Given the description of an element on the screen output the (x, y) to click on. 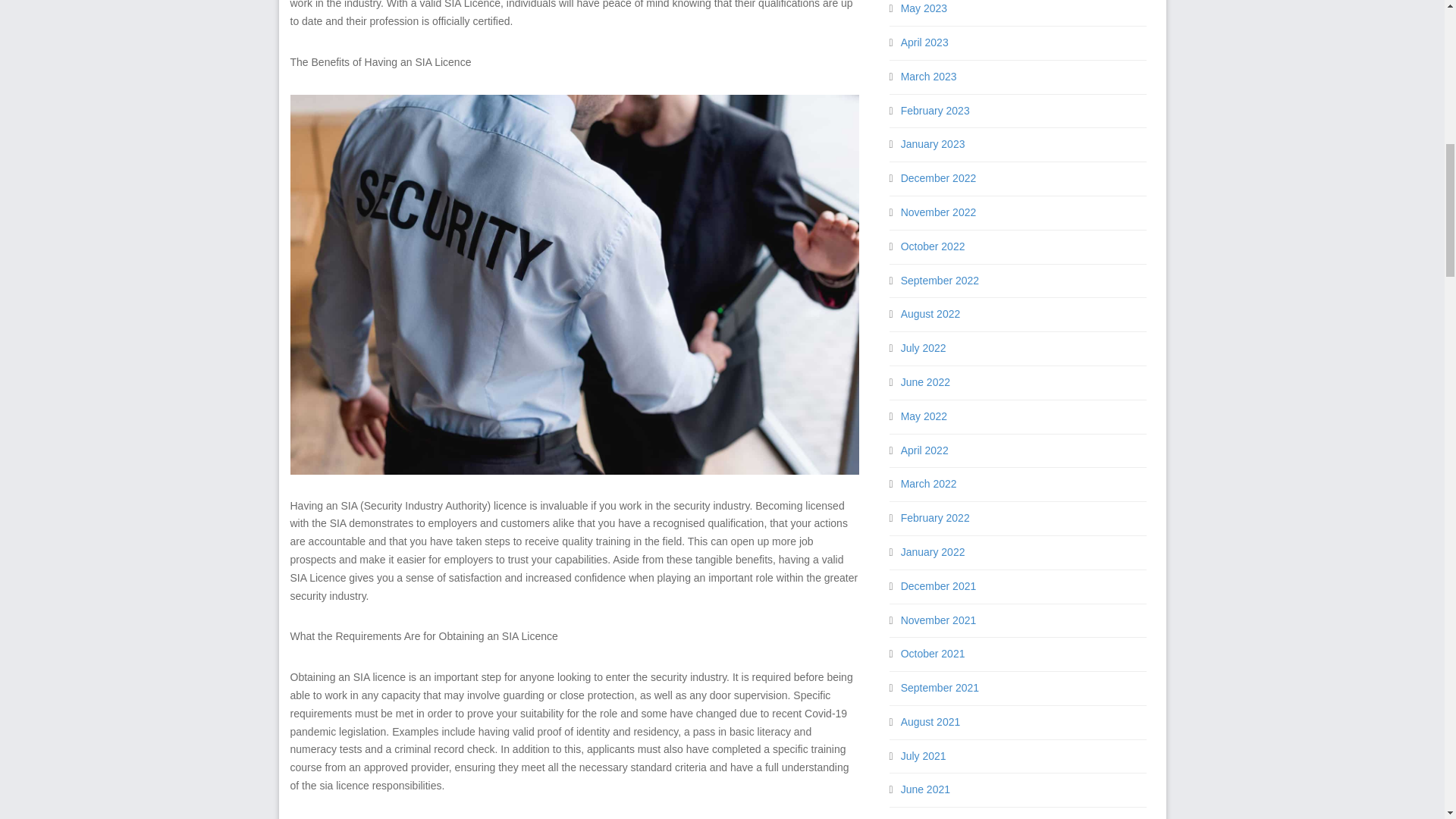
March 2023 (928, 76)
December 2022 (938, 177)
April 2023 (925, 42)
February 2023 (935, 110)
January 2023 (933, 143)
May 2023 (924, 8)
